Given the description of an element on the screen output the (x, y) to click on. 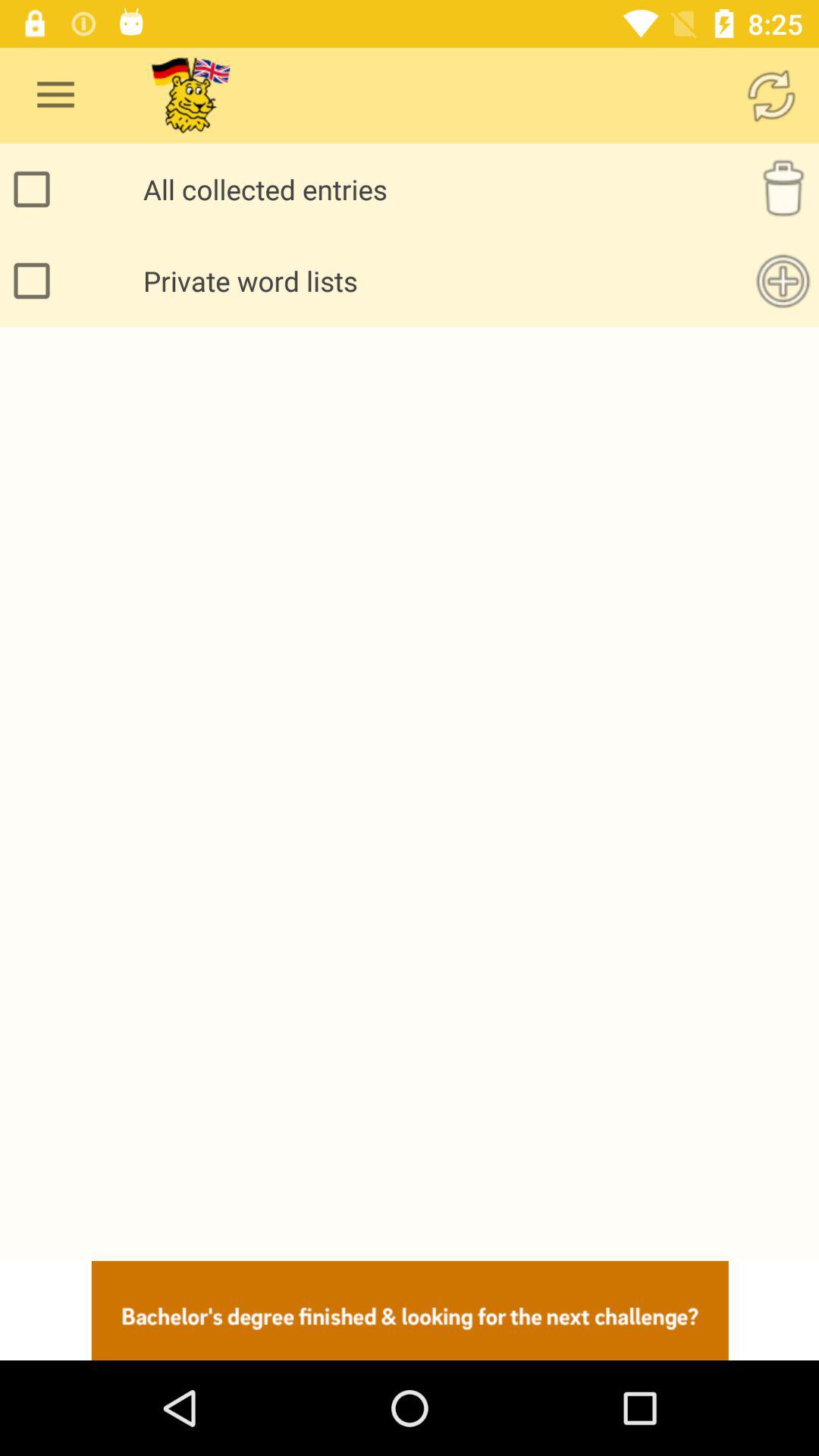
advertisement (409, 1310)
